Given the description of an element on the screen output the (x, y) to click on. 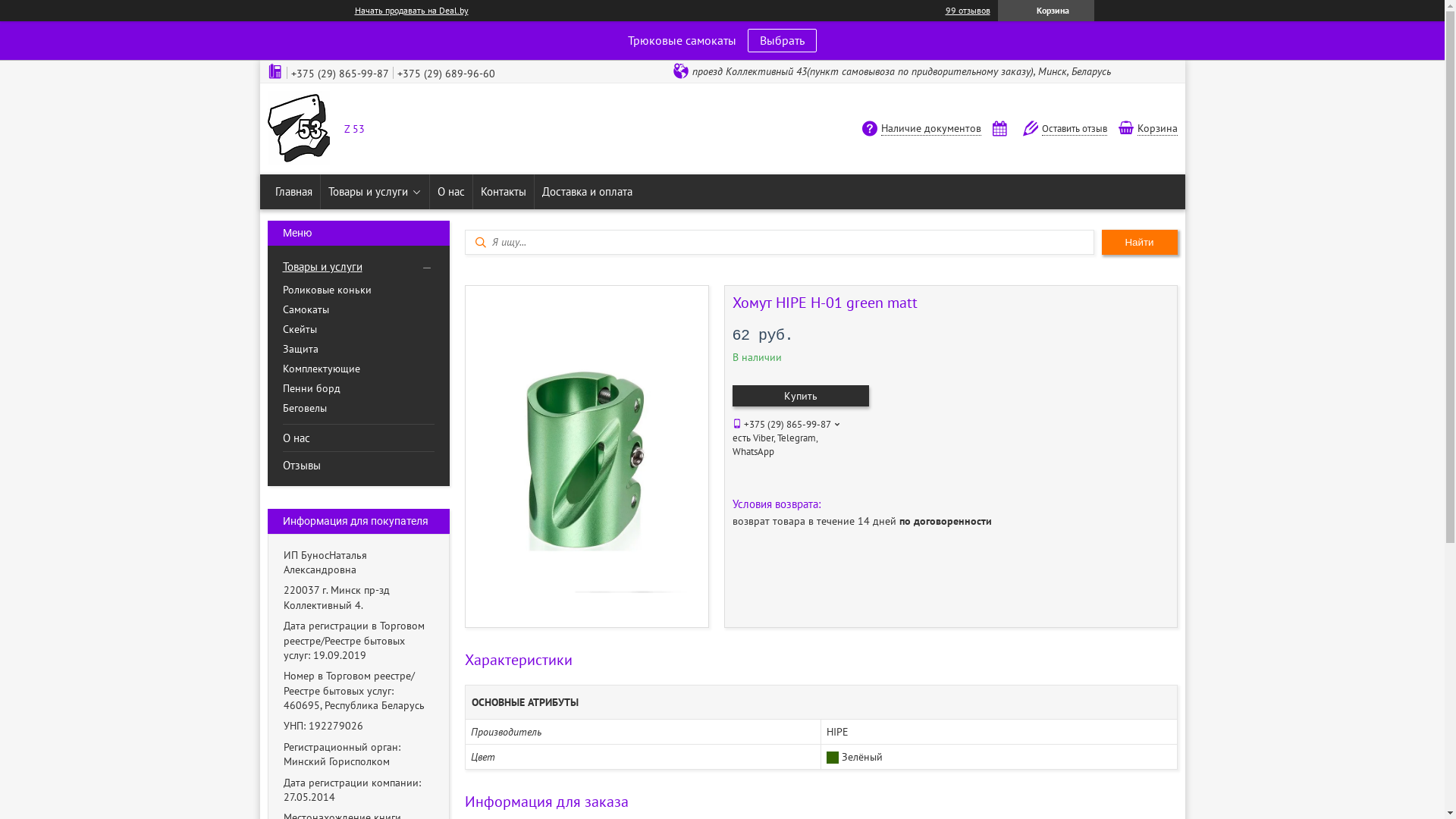
Z 53 Element type: hover (297, 129)
